Given the description of an element on the screen output the (x, y) to click on. 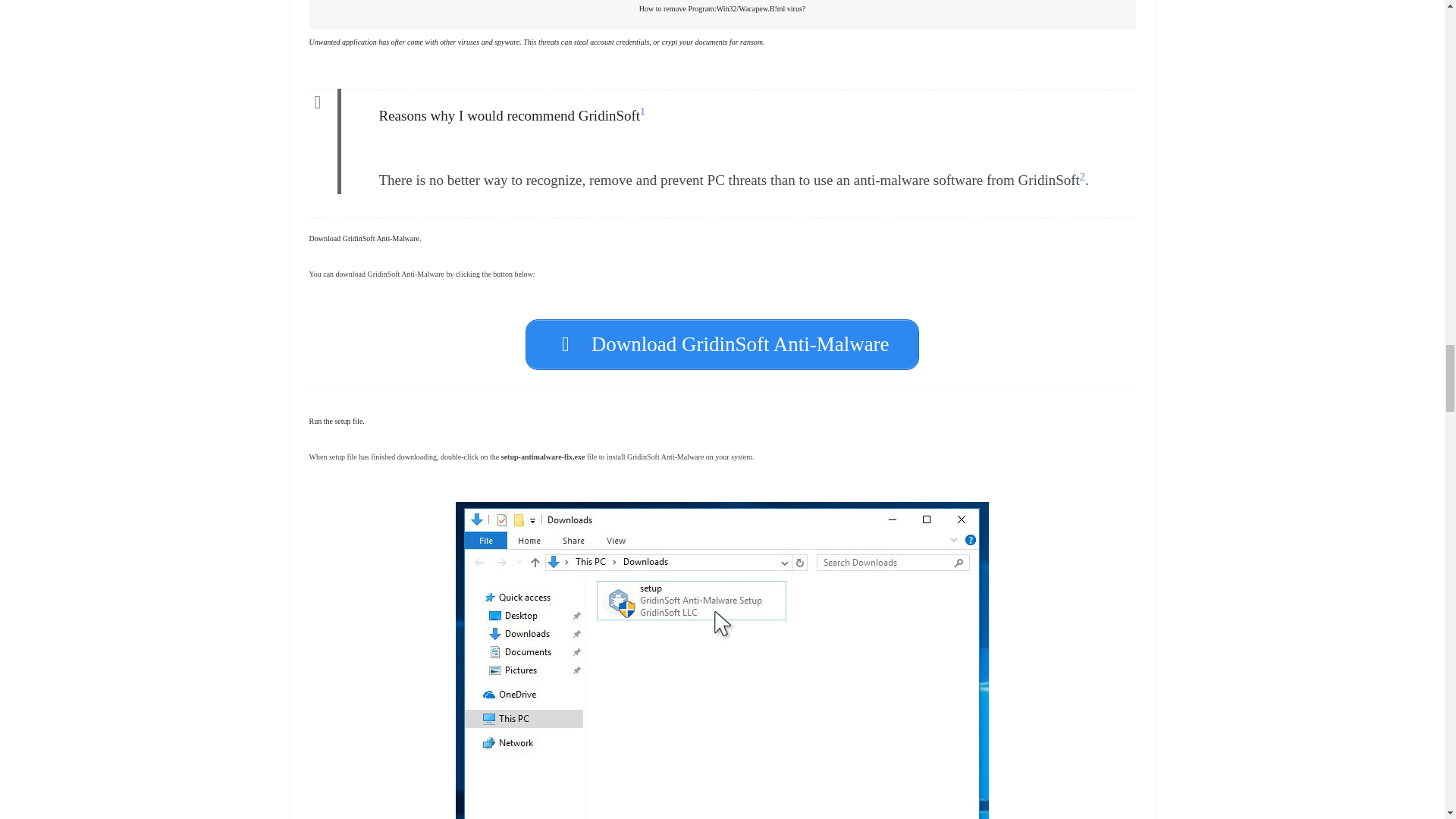
Download GridinSoft Anti-Malware (721, 344)
